Given the description of an element on the screen output the (x, y) to click on. 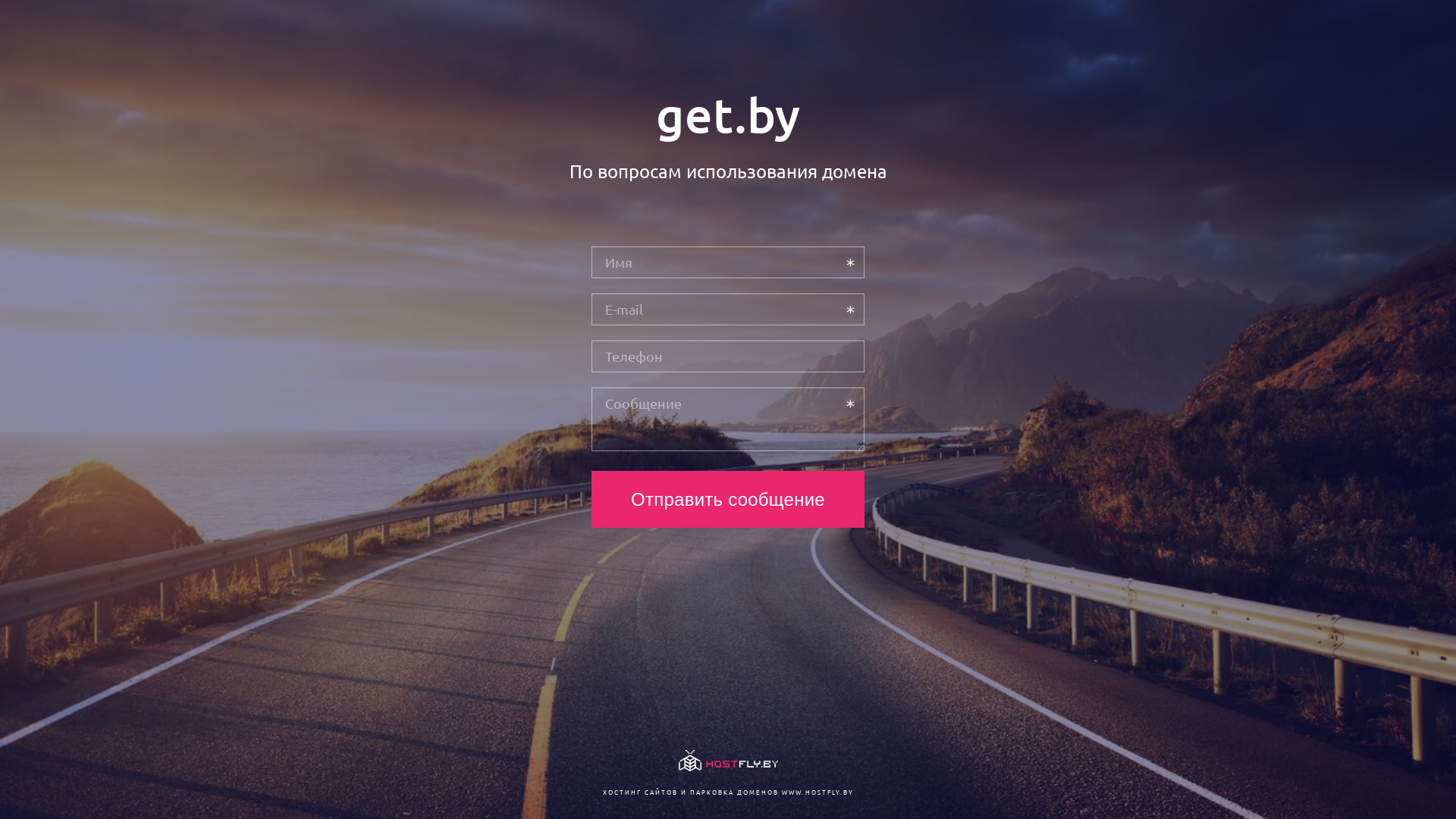
WWW.HOSTFLY.BY Element type: text (817, 791)
